Given the description of an element on the screen output the (x, y) to click on. 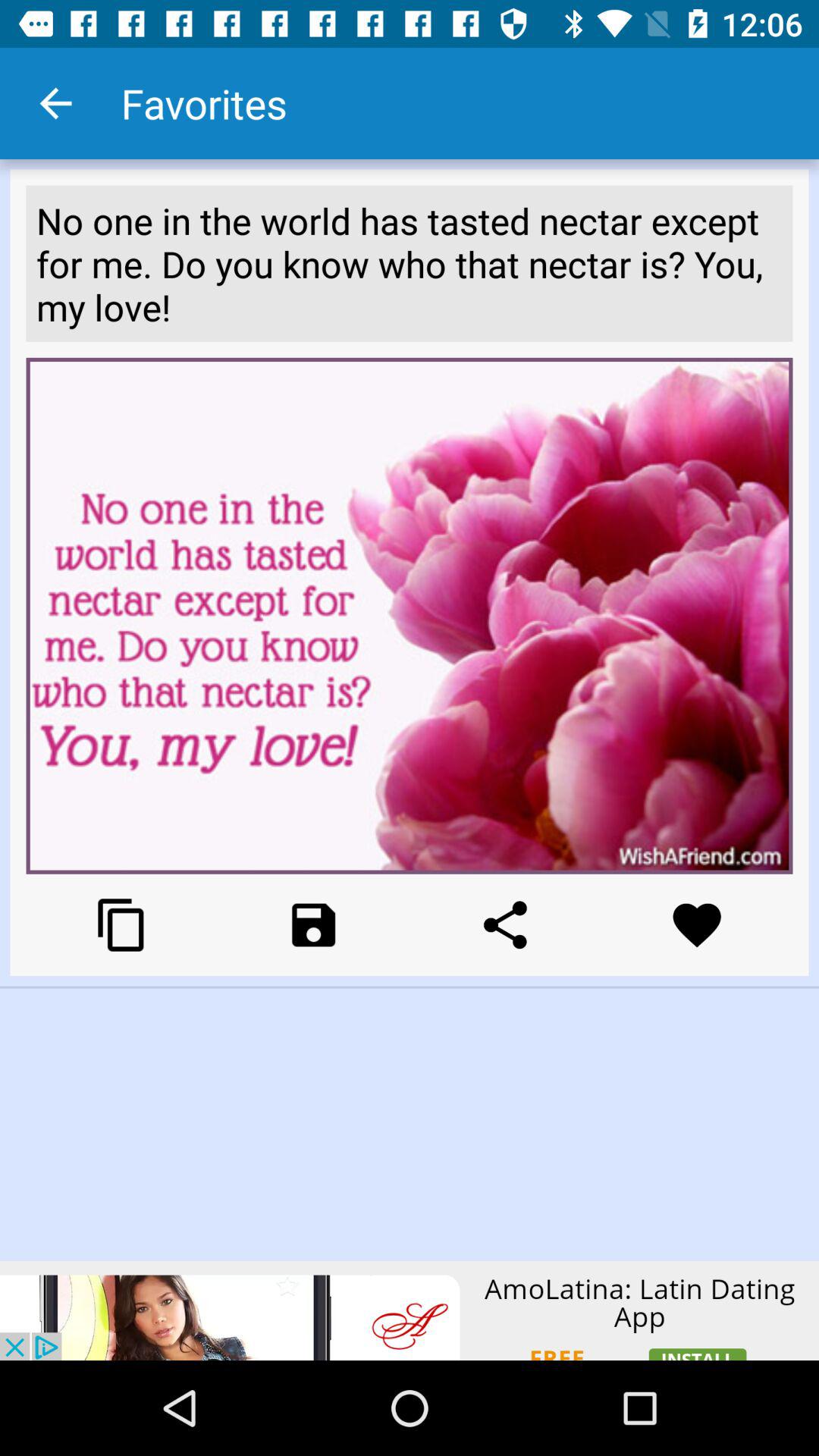
share the article (505, 925)
